Given the description of an element on the screen output the (x, y) to click on. 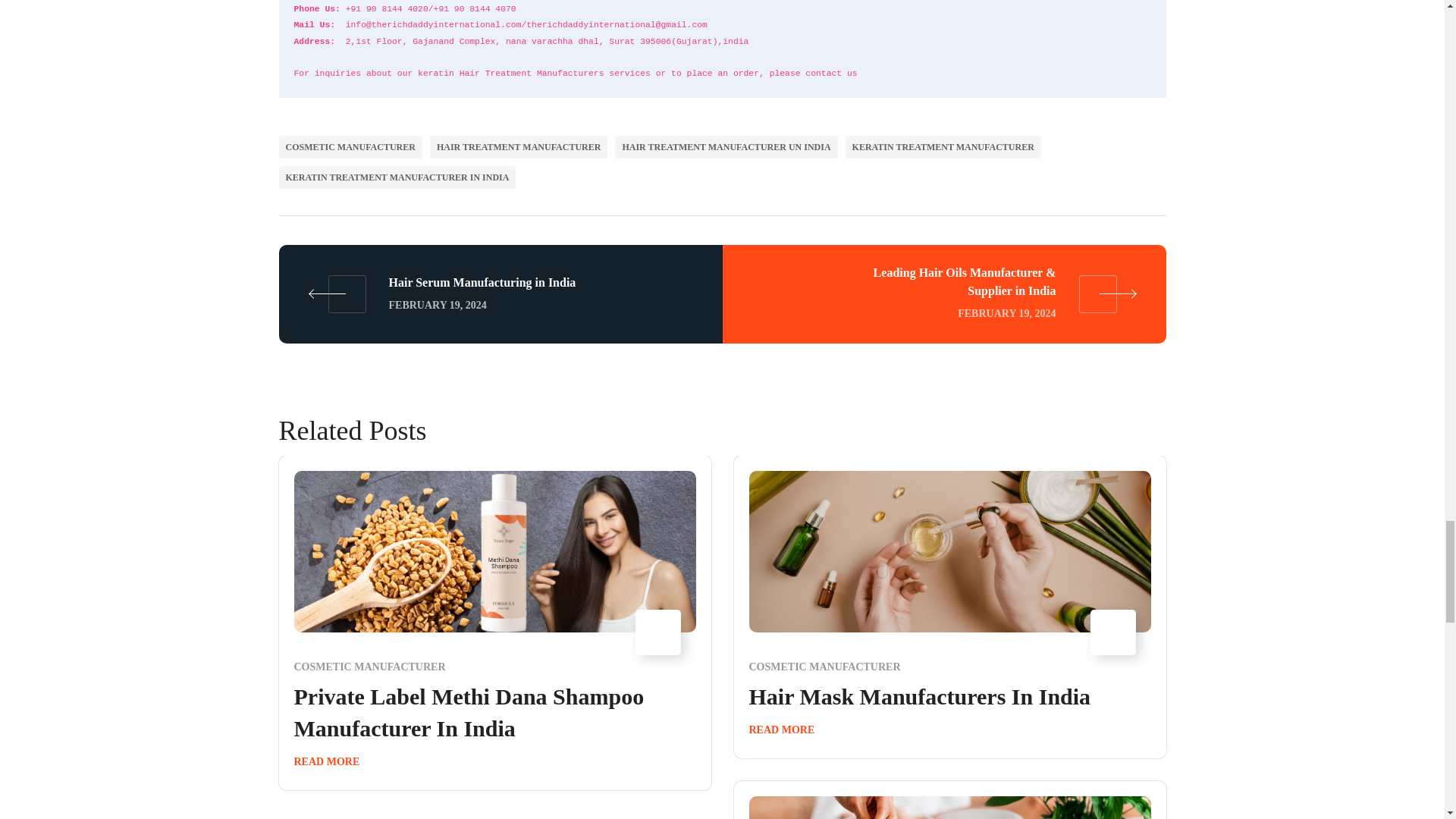
KERATIN TREATMENT MANUFACTURER (943, 146)
COSMETIC MANUFACTURER (350, 146)
HAIR TREATMENT MANUFACTURER (518, 146)
Hair Serum Manufacturing in India (500, 293)
HAIR TREATMENT MANUFACTURER UN INDIA (725, 146)
